Given the description of an element on the screen output the (x, y) to click on. 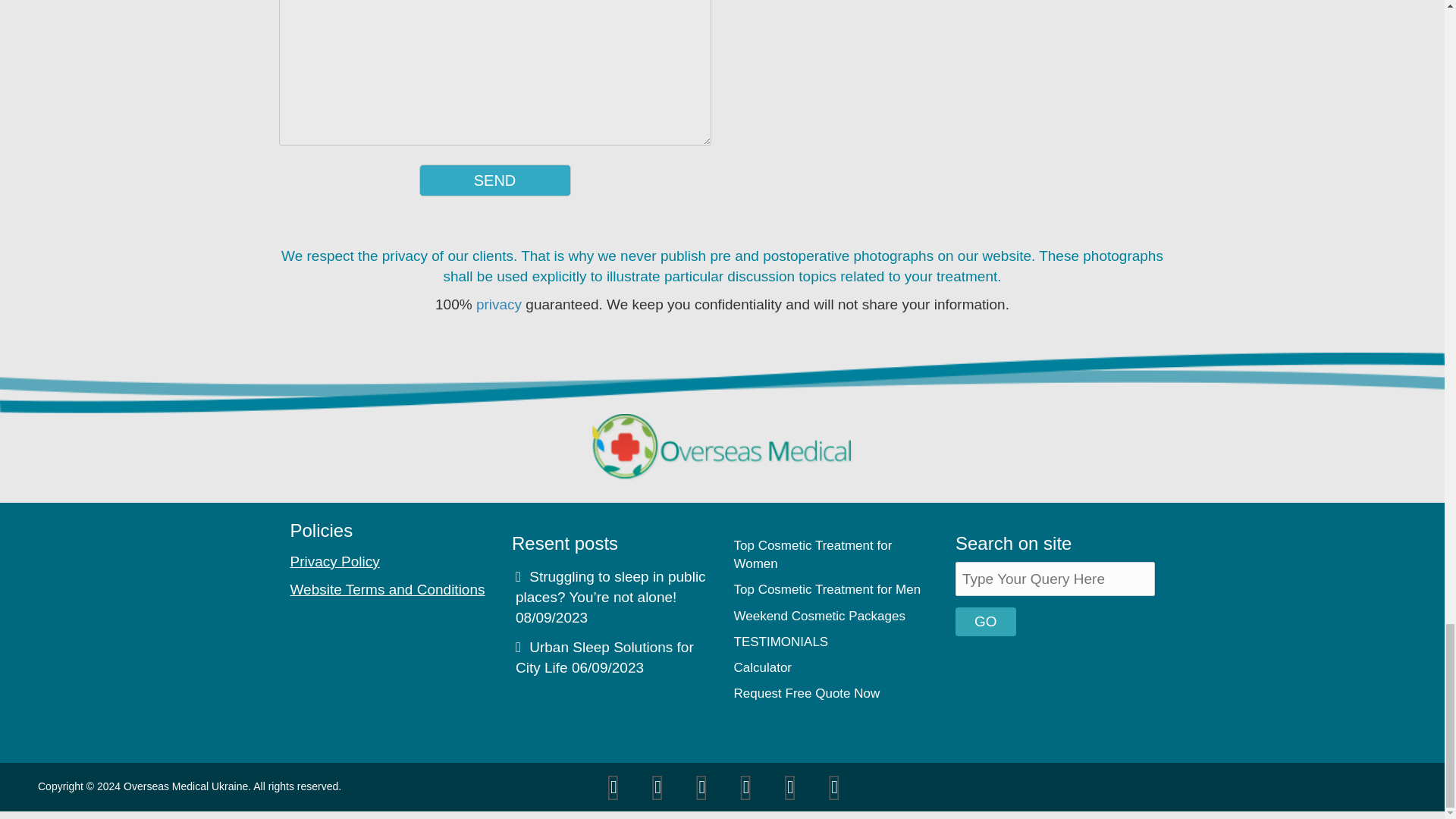
Google-plus (658, 787)
Youtube (746, 787)
Instagram (834, 787)
Twitter (613, 787)
Send (494, 180)
Linkedin (789, 787)
Facebook (702, 787)
GO (985, 621)
